Given the description of an element on the screen output the (x, y) to click on. 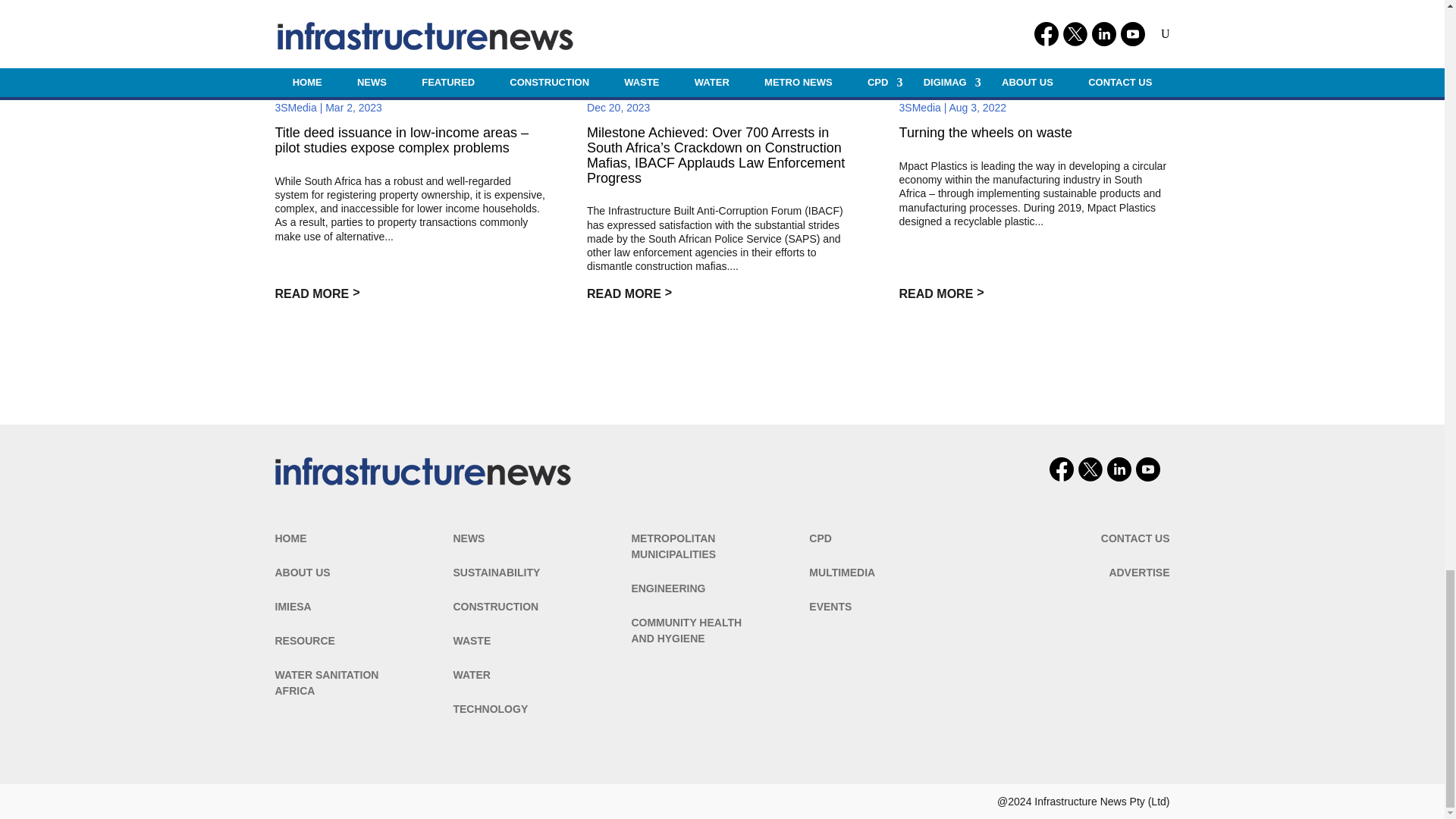
Posts by 3SMedia (919, 107)
Linkedin (1118, 469)
thePlannerguru-red (422, 471)
Facebook (1061, 469)
Twitter (1090, 469)
Youtube (1147, 469)
Posts by 3SMedia (295, 107)
